Given the description of an element on the screen output the (x, y) to click on. 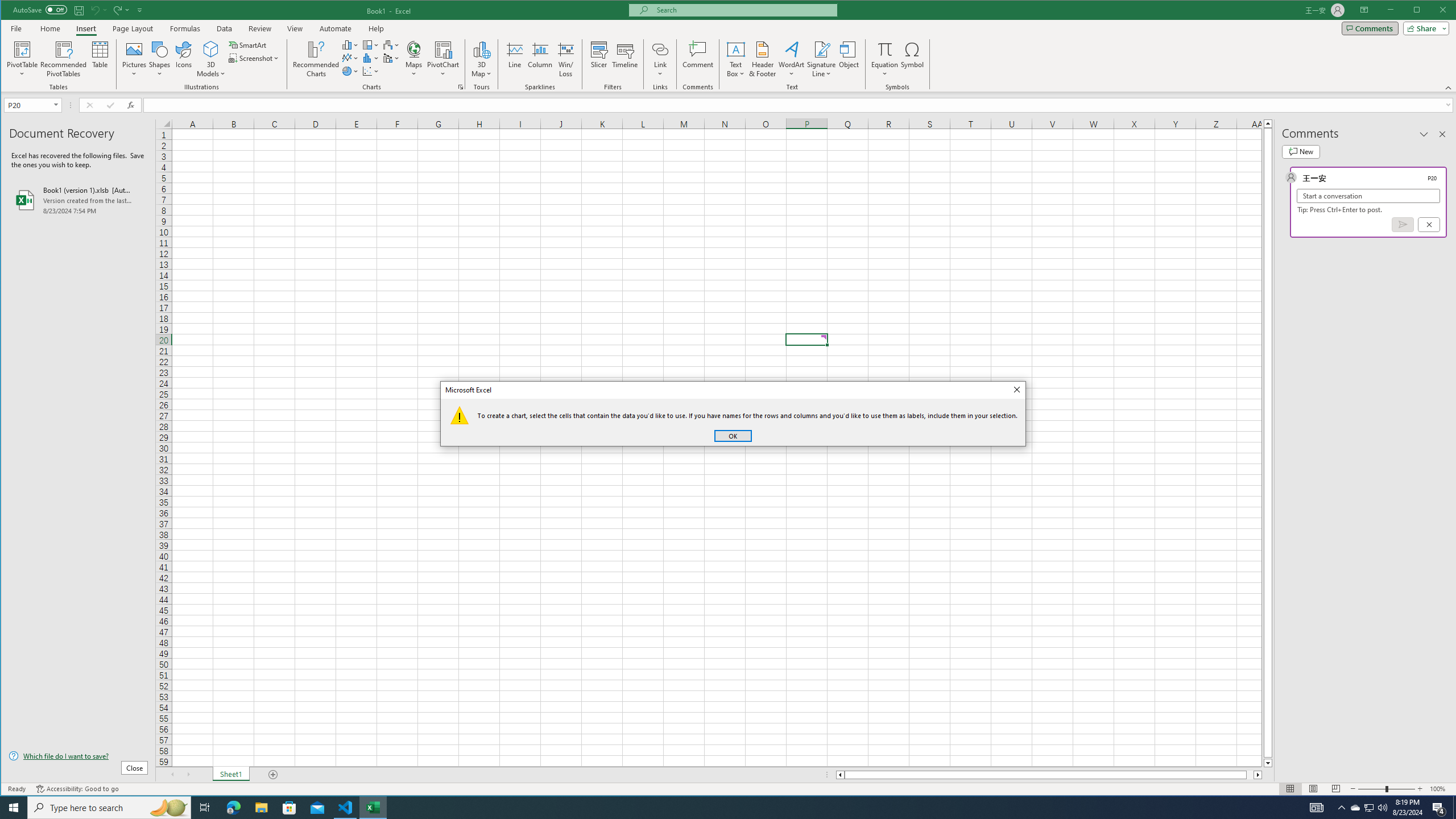
User Promoted Notification Area (1368, 807)
Class: MsoCommandBar (728, 45)
Visual Studio Code - 1 running window (345, 807)
Cancel (1428, 224)
Insert Pie or Doughnut Chart (350, 70)
Notification Chevron (1341, 807)
